Given the description of an element on the screen output the (x, y) to click on. 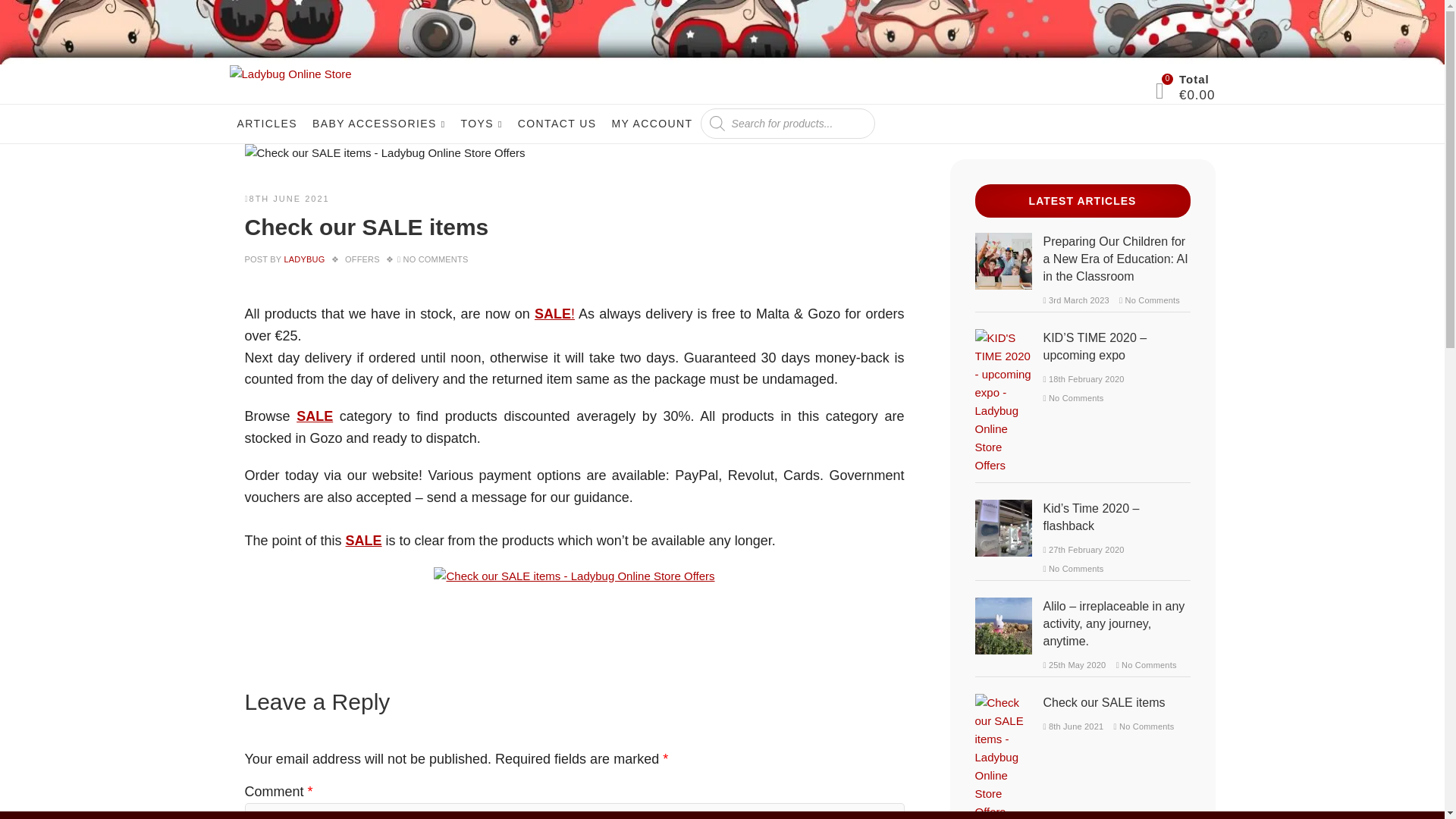
NO COMMENTS (435, 258)
3rd March 2023 (1076, 299)
8TH JUNE 2021 (286, 198)
18th February 2020 (1083, 379)
SALE (315, 416)
Check our SALE items (302, 258)
3rd March 2023 (1076, 299)
MY ACCOUNT (652, 123)
LADYBUG (302, 258)
OFFERS (362, 258)
Check our SALE items (384, 153)
0 (1167, 90)
SALE (363, 540)
TOYS (480, 123)
